Given the description of an element on the screen output the (x, y) to click on. 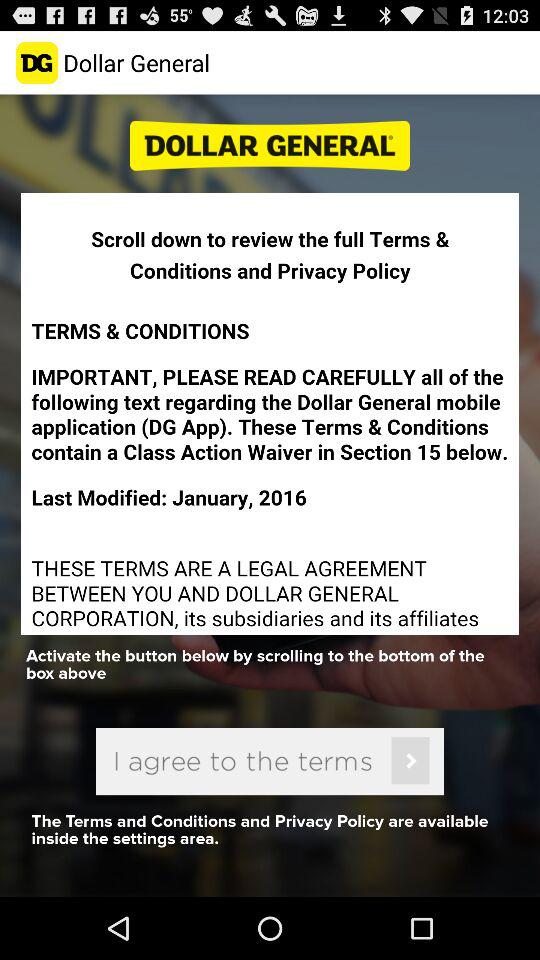
click to agree terms (270, 761)
